Given the description of an element on the screen output the (x, y) to click on. 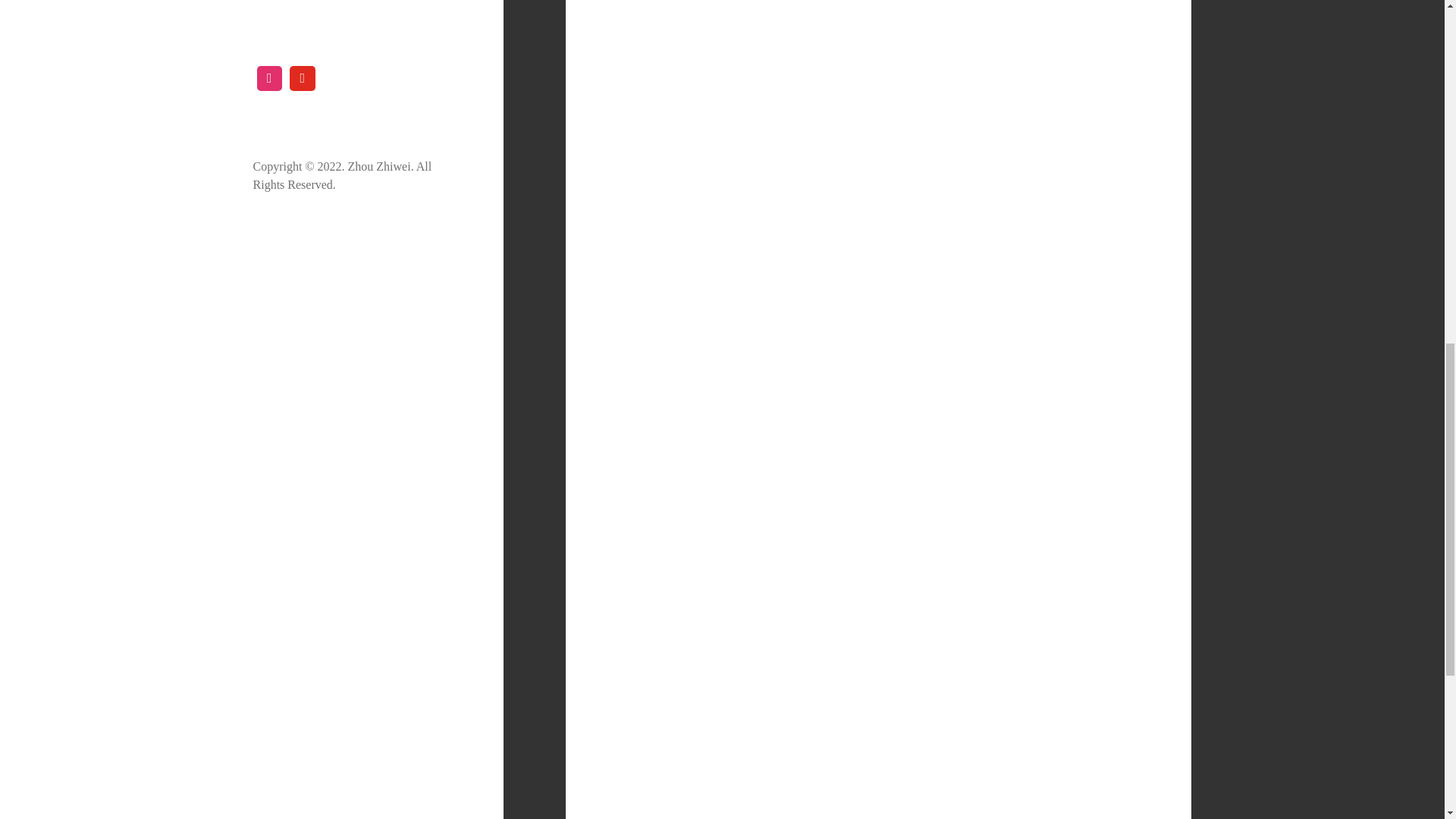
Default Label (269, 78)
Facebook (301, 78)
